Given the description of an element on the screen output the (x, y) to click on. 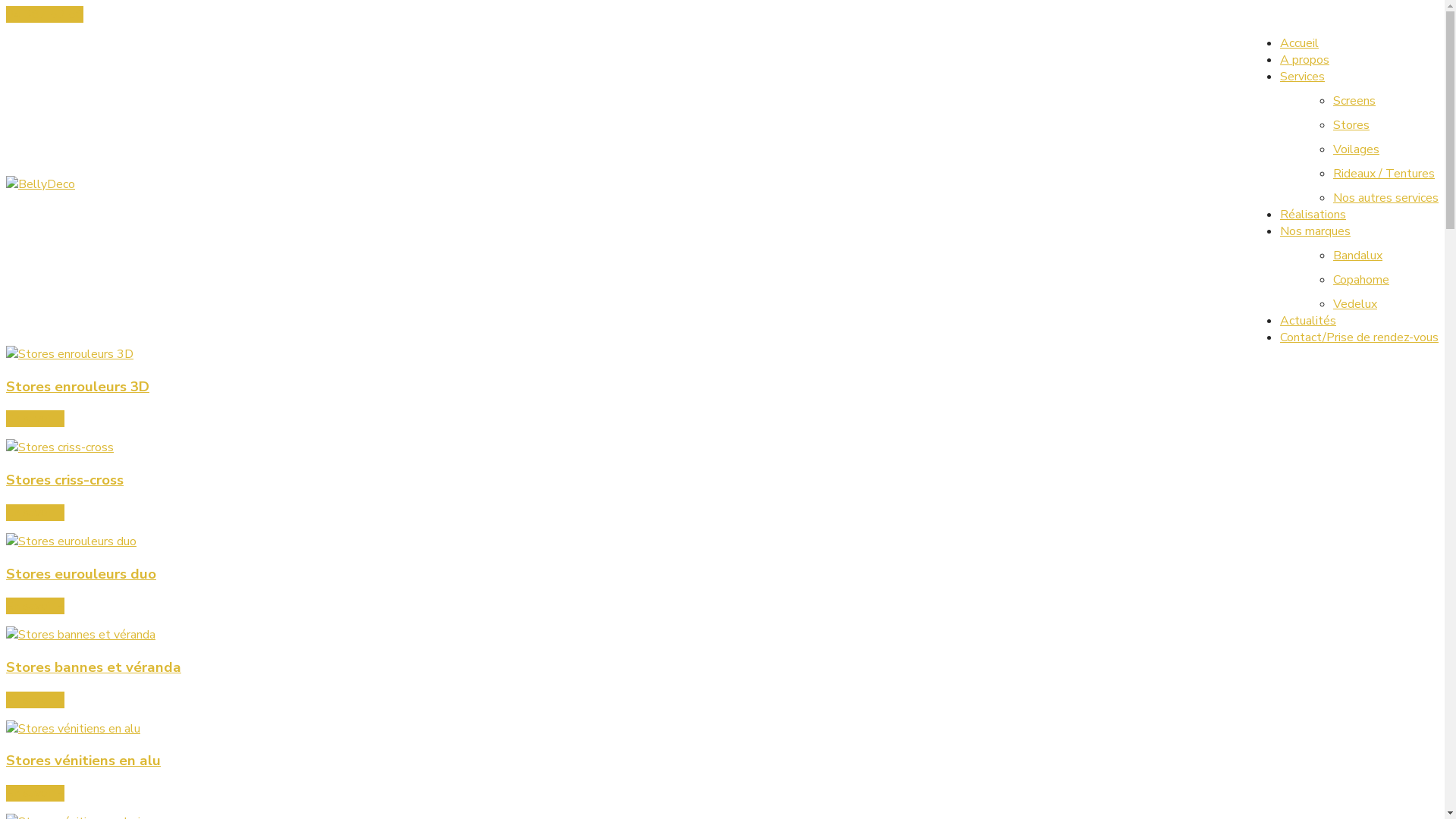
En savoir + Element type: text (35, 792)
Contact/Prise de rendez-vous Element type: text (1359, 337)
Stores enrouleurs 3D Element type: text (77, 386)
Accueil Element type: text (1299, 42)
Services Element type: text (1302, 76)
Bandalux Element type: text (1357, 255)
En savoir + Element type: text (35, 699)
04 387 53 58 Element type: text (44, 14)
En savoir + Element type: text (35, 512)
Voilages Element type: text (1356, 149)
Stores criss-cross Element type: text (64, 479)
En savoir + Element type: text (35, 418)
Stores Element type: text (1351, 124)
Copahome Element type: text (1361, 279)
Rideaux / Tentures Element type: text (1383, 173)
Screens Element type: text (1354, 100)
Nos autres services Element type: text (1385, 197)
Vedelux Element type: text (1355, 303)
Nos marques Element type: text (1315, 230)
A propos Element type: text (1304, 59)
En savoir + Element type: text (35, 605)
Stores eurouleurs duo Element type: text (81, 573)
